Given the description of an element on the screen output the (x, y) to click on. 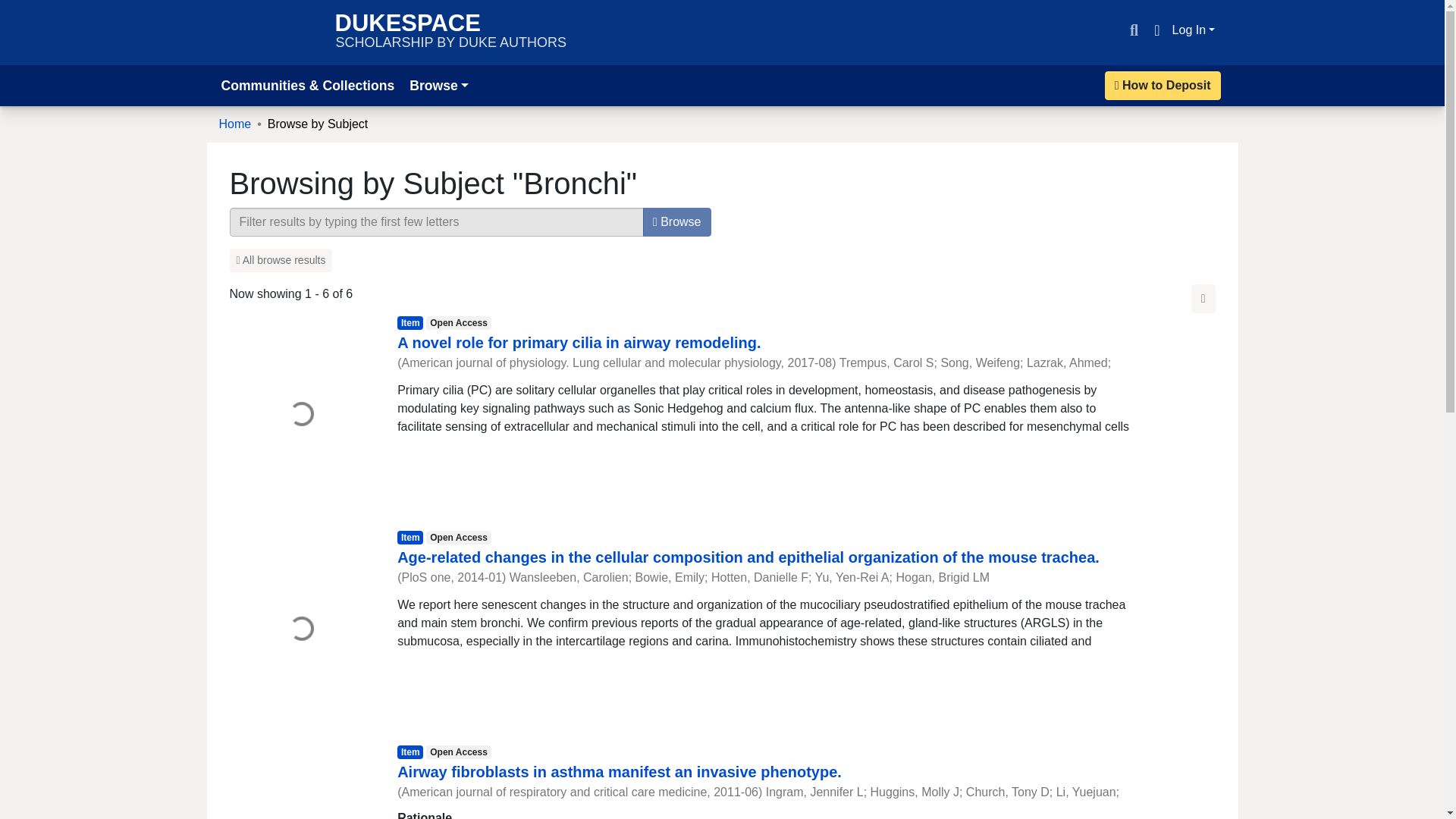
Search (1133, 30)
Duke University Libraries (269, 32)
All browse results (279, 259)
How to Deposit (1163, 85)
Browse (450, 32)
Home (677, 222)
A novel role for primary cilia in airway remodeling. (234, 124)
Log In (578, 342)
Language switch (1193, 29)
Browse (1156, 30)
Skip to Main Content (438, 85)
